Given the description of an element on the screen output the (x, y) to click on. 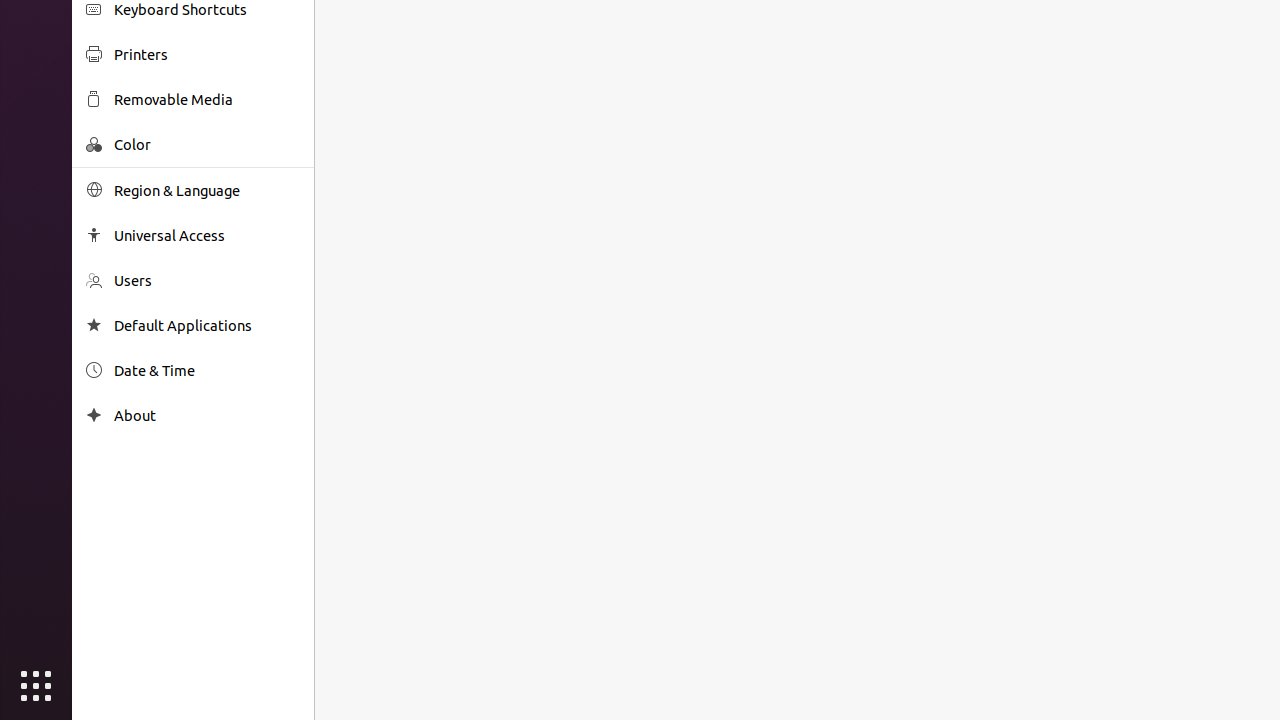
About Element type: label (207, 415)
Region & Language Element type: label (207, 190)
Printers Element type: label (207, 54)
Universal Access Element type: label (207, 235)
About Element type: icon (94, 415)
